Given the description of an element on the screen output the (x, y) to click on. 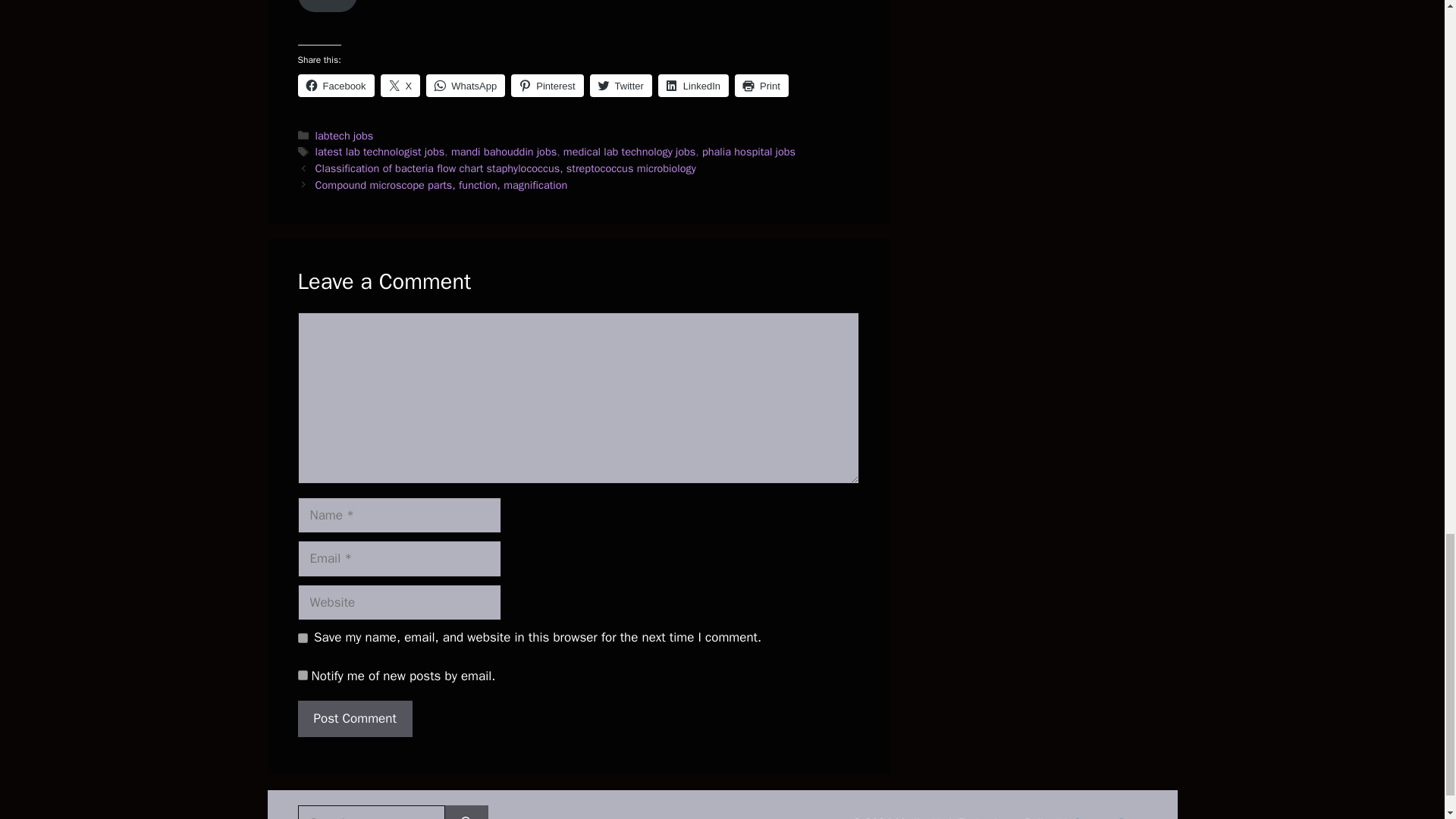
GeneratePress (1110, 817)
WhatsApp (465, 85)
Twitter (620, 85)
Click to share on LinkedIn (693, 85)
Search for: (370, 812)
labtech jobs (344, 135)
Post Comment (354, 719)
Send (326, 6)
phalia hospital jobs (747, 151)
Click to print (762, 85)
yes (302, 637)
Post Comment (354, 719)
Pinterest (547, 85)
Click to share on X (400, 85)
Compound microscope parts, function, magnification (441, 184)
